Given the description of an element on the screen output the (x, y) to click on. 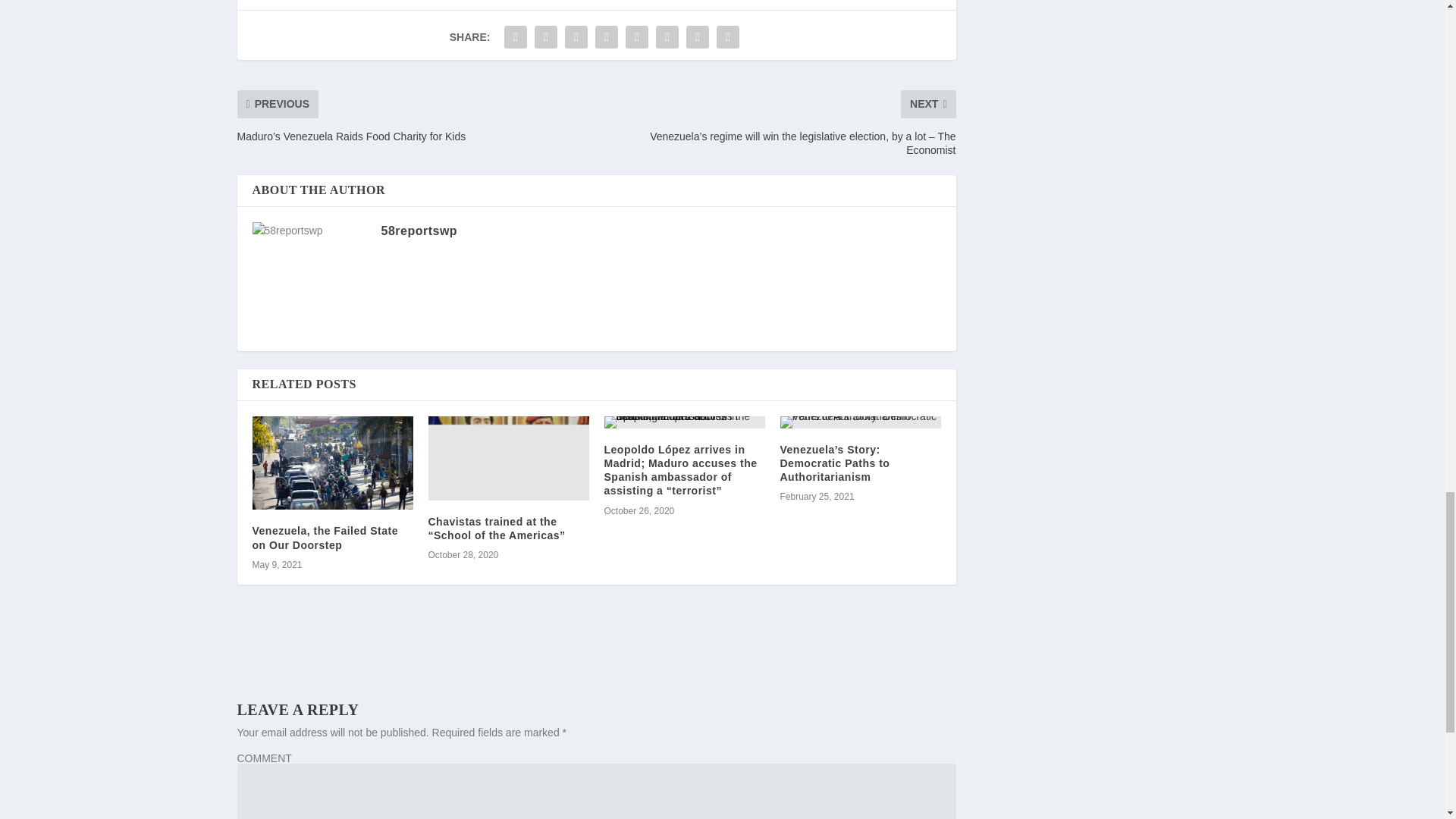
Venezuela, the Failed State on Our Doorstep (324, 537)
Venezuela, the Failed State on Our Doorstep (331, 463)
58reportswp (418, 230)
View all posts by 58reportswp (418, 230)
